Given the description of an element on the screen output the (x, y) to click on. 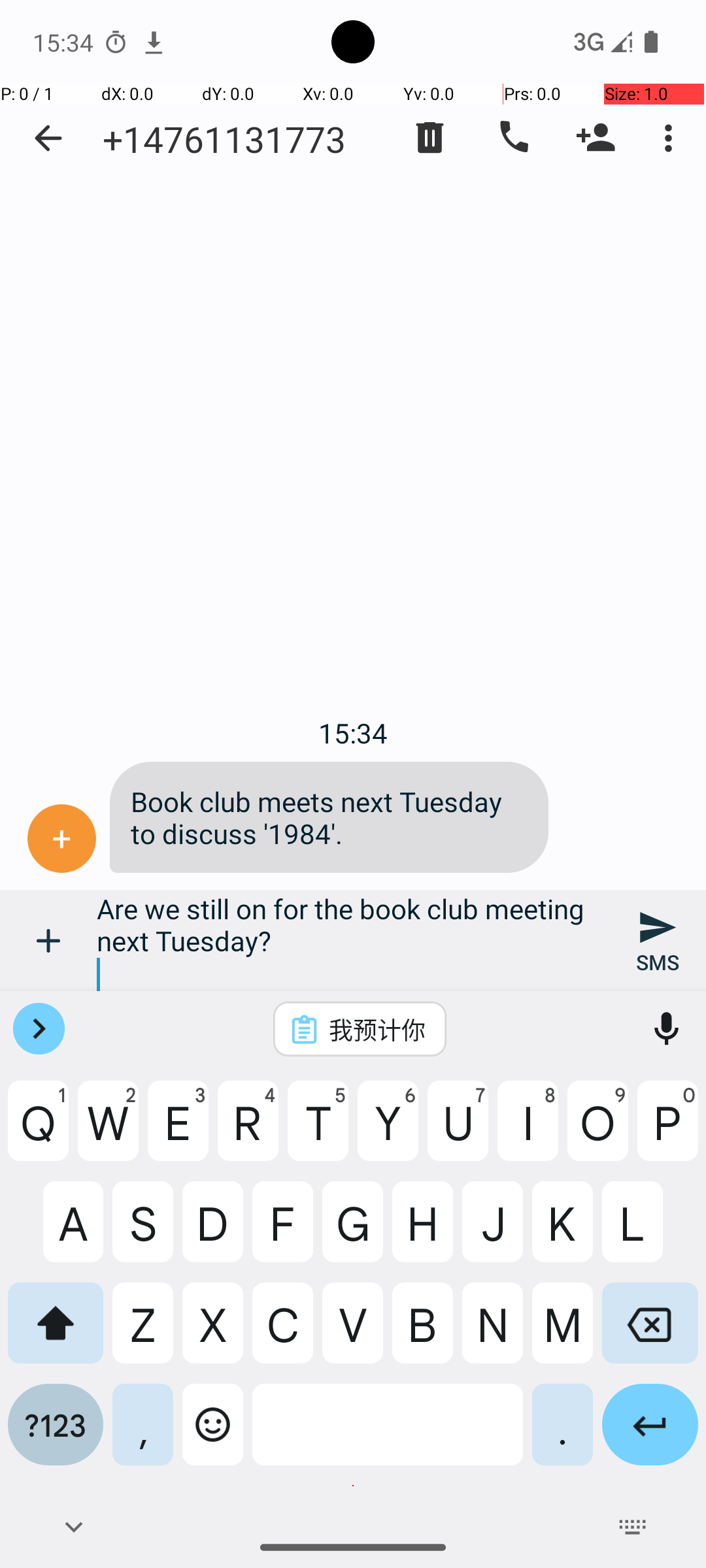
+14761131773 Element type: android.widget.TextView (223, 138)
Are we still on for the book club meeting next Tuesday?
 Element type: android.widget.EditText (352, 940)
我预计你 Element type: android.widget.TextView (376, 1028)
